Given the description of an element on the screen output the (x, y) to click on. 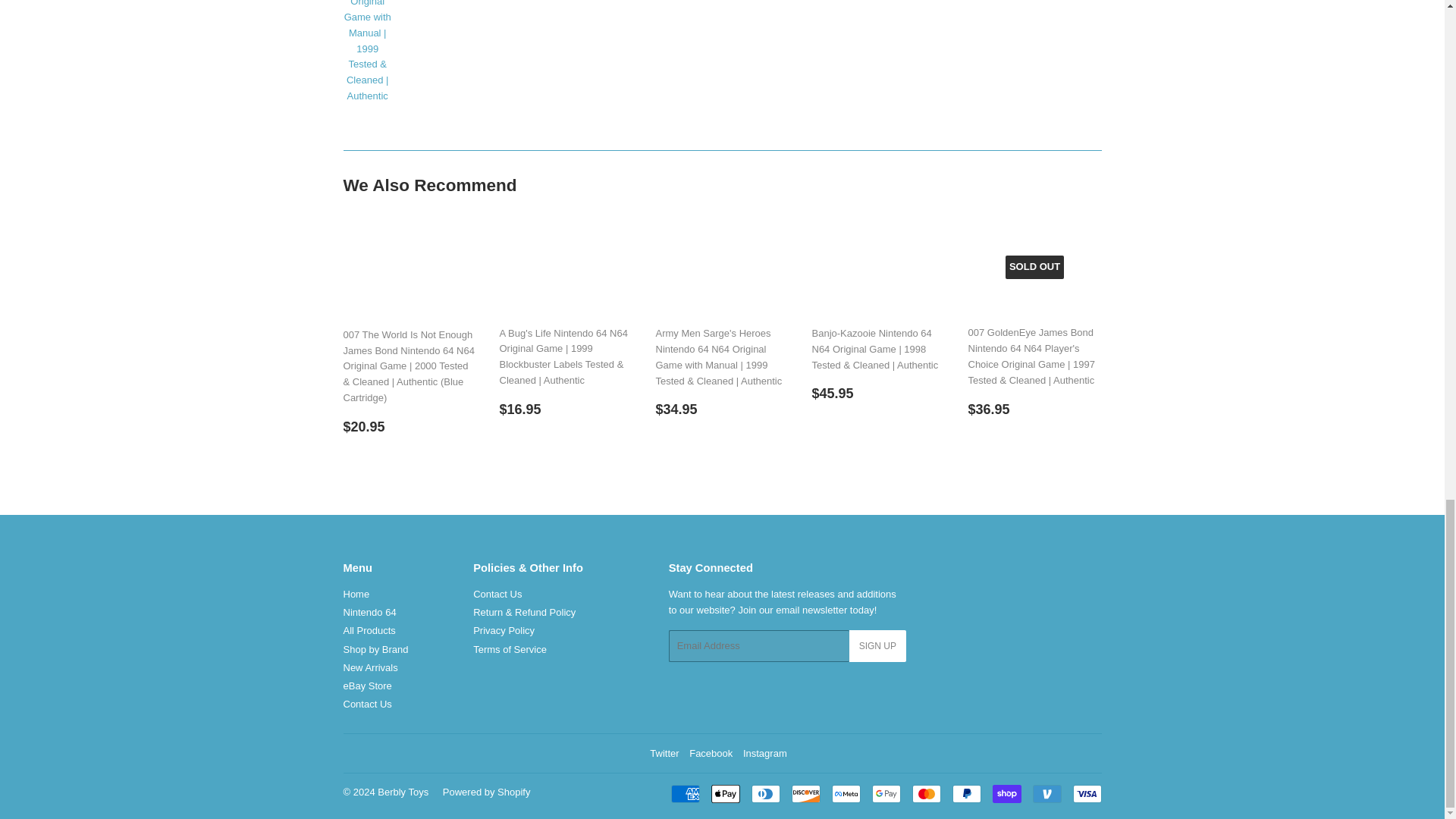
Meta Pay (845, 793)
PayPal (966, 793)
Venmo (1046, 793)
Diners Club (764, 793)
Mastercard (925, 793)
Berbly Toys on Facebook (710, 753)
Berbly Toys on Twitter (663, 753)
Berbly Toys on Instagram (764, 753)
Discover (806, 793)
American Express (683, 793)
